Given the description of an element on the screen output the (x, y) to click on. 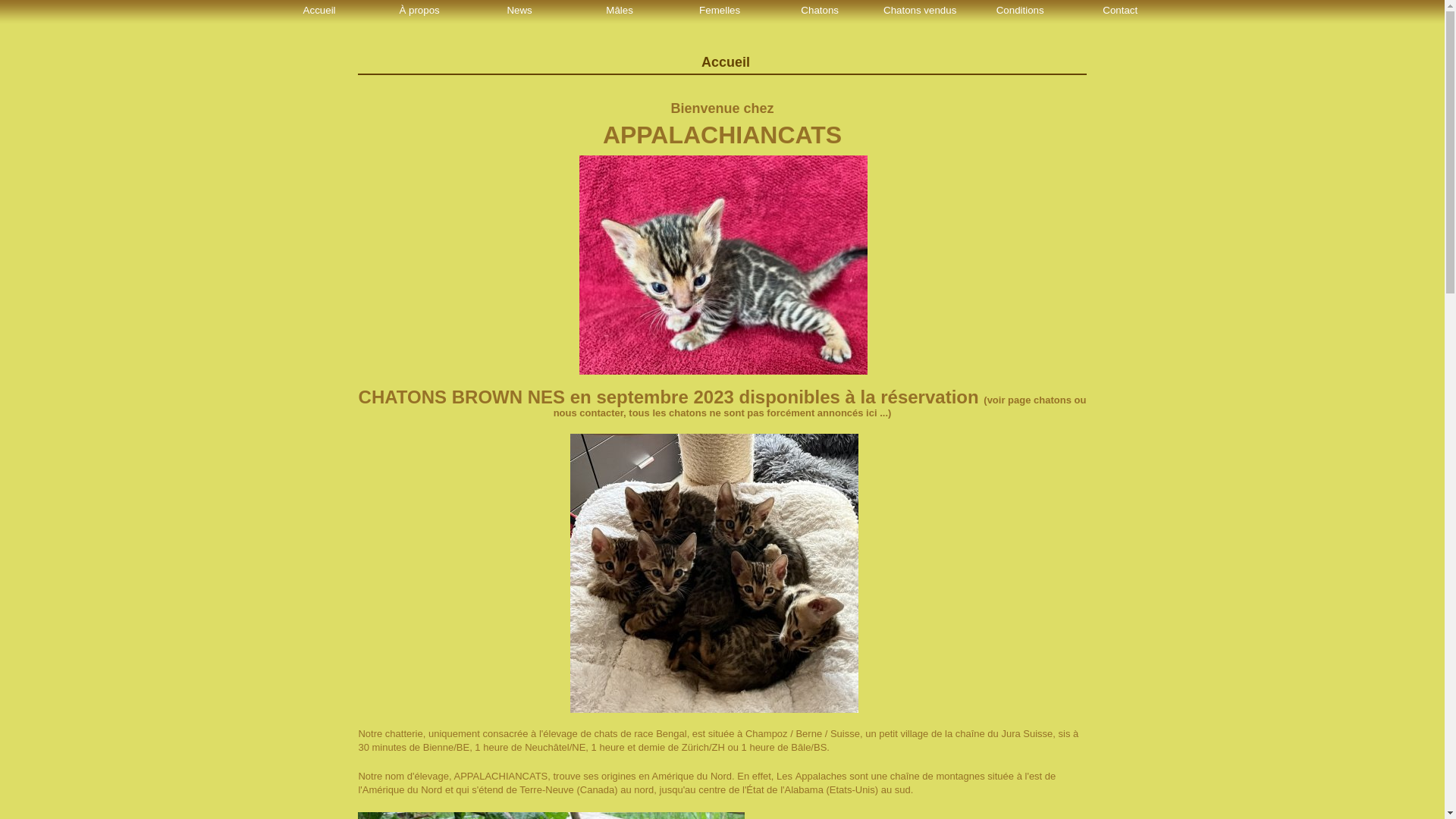
Accueil Element type: text (316, 10)
News Element type: text (517, 10)
Chatons Element type: text (817, 10)
Femelles Element type: text (717, 10)
Contact Element type: text (1118, 10)
Chatons vendus Element type: text (918, 10)
Conditions Element type: text (1018, 10)
